Given the description of an element on the screen output the (x, y) to click on. 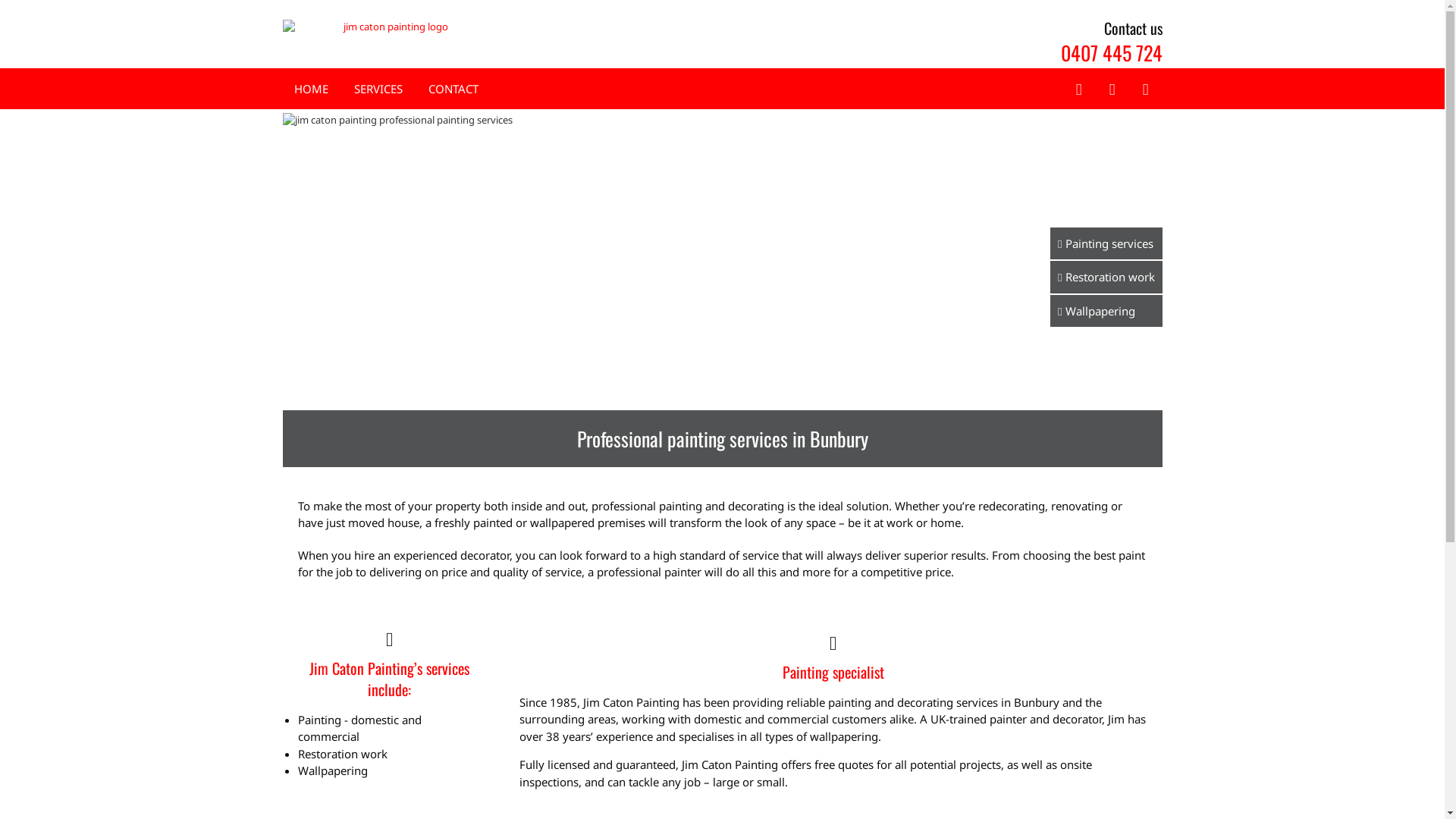
HOME Element type: text (311, 88)
SERVICES Element type: text (377, 88)
jim caton painting logo Element type: hover (389, 26)
CONTACT Element type: text (452, 88)
jim caton painting professional painting services Element type: hover (721, 259)
0407 445 724 Element type: text (1110, 52)
